Given the description of an element on the screen output the (x, y) to click on. 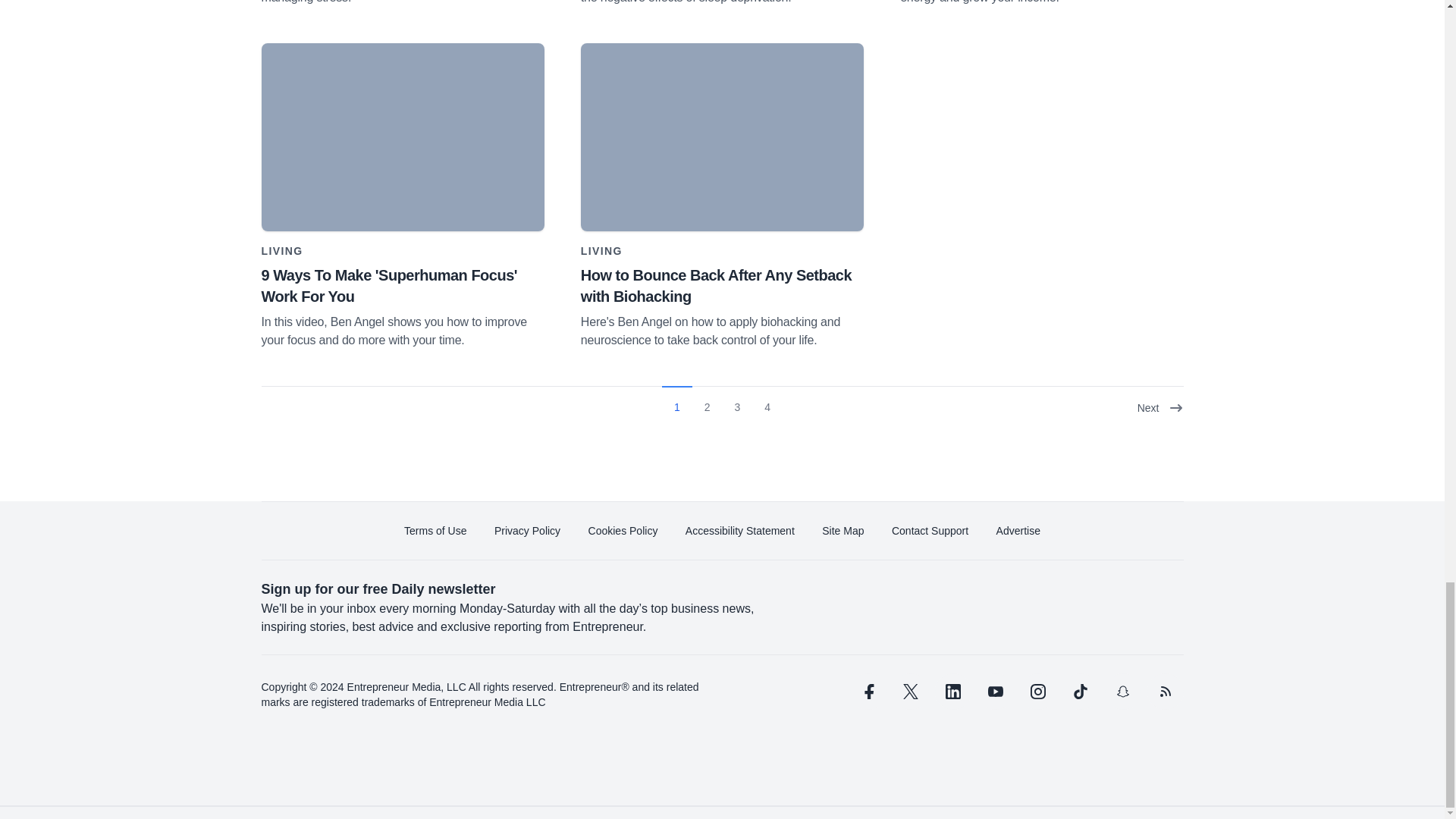
linkedin (952, 691)
youtube (994, 691)
facebook (866, 691)
snapchat (1121, 691)
instagram (1037, 691)
twitter (909, 691)
tiktok (1079, 691)
rss (1164, 691)
